Given the description of an element on the screen output the (x, y) to click on. 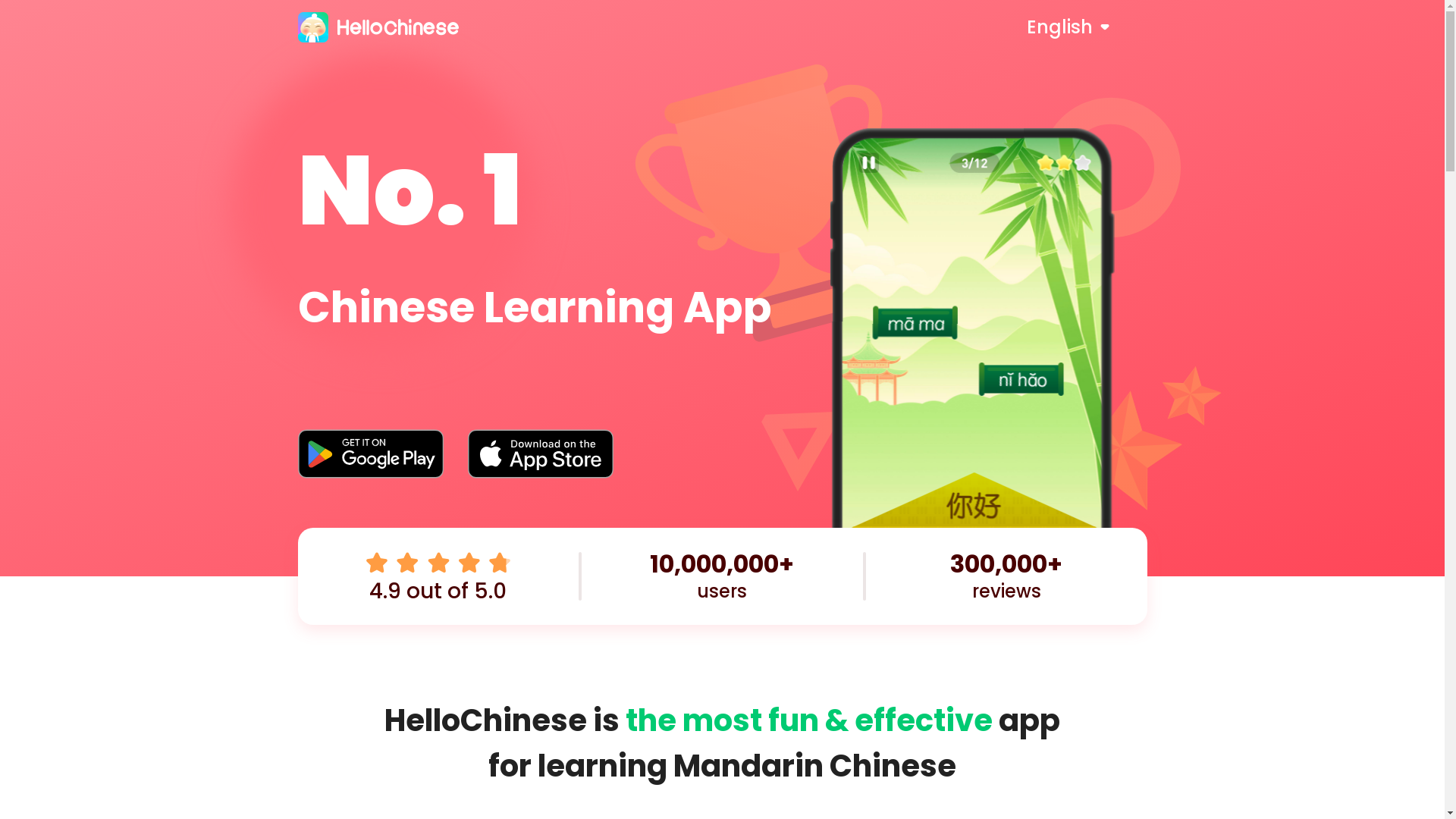
English Element type: text (1086, 26)
